Given the description of an element on the screen output the (x, y) to click on. 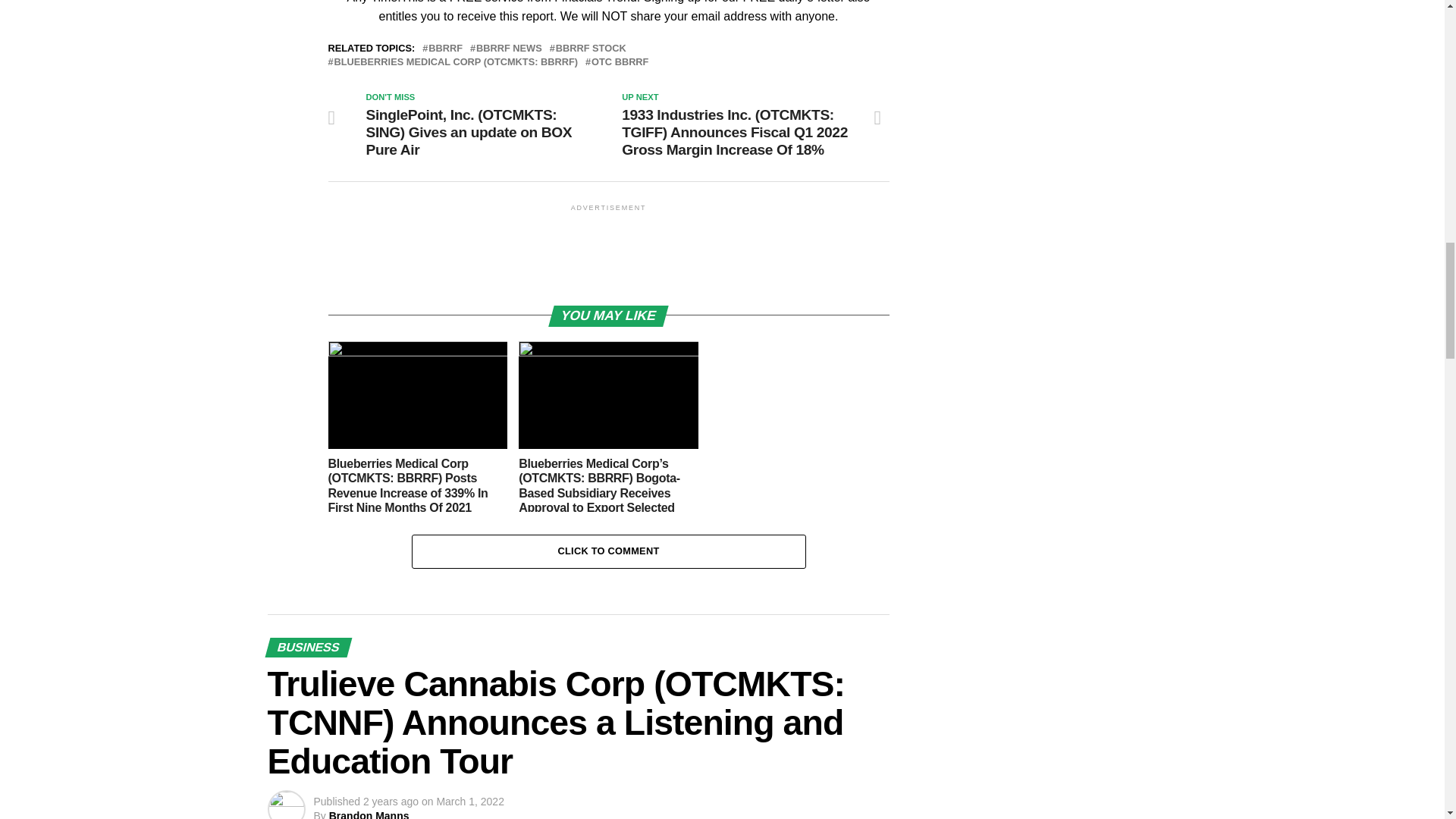
BBRRF (445, 49)
Posts by Brandon Manns (369, 814)
BBRRF NEWS (508, 49)
Brandon Manns (369, 814)
BBRRF STOCK (591, 49)
OTC BBRRF (619, 62)
